Given the description of an element on the screen output the (x, y) to click on. 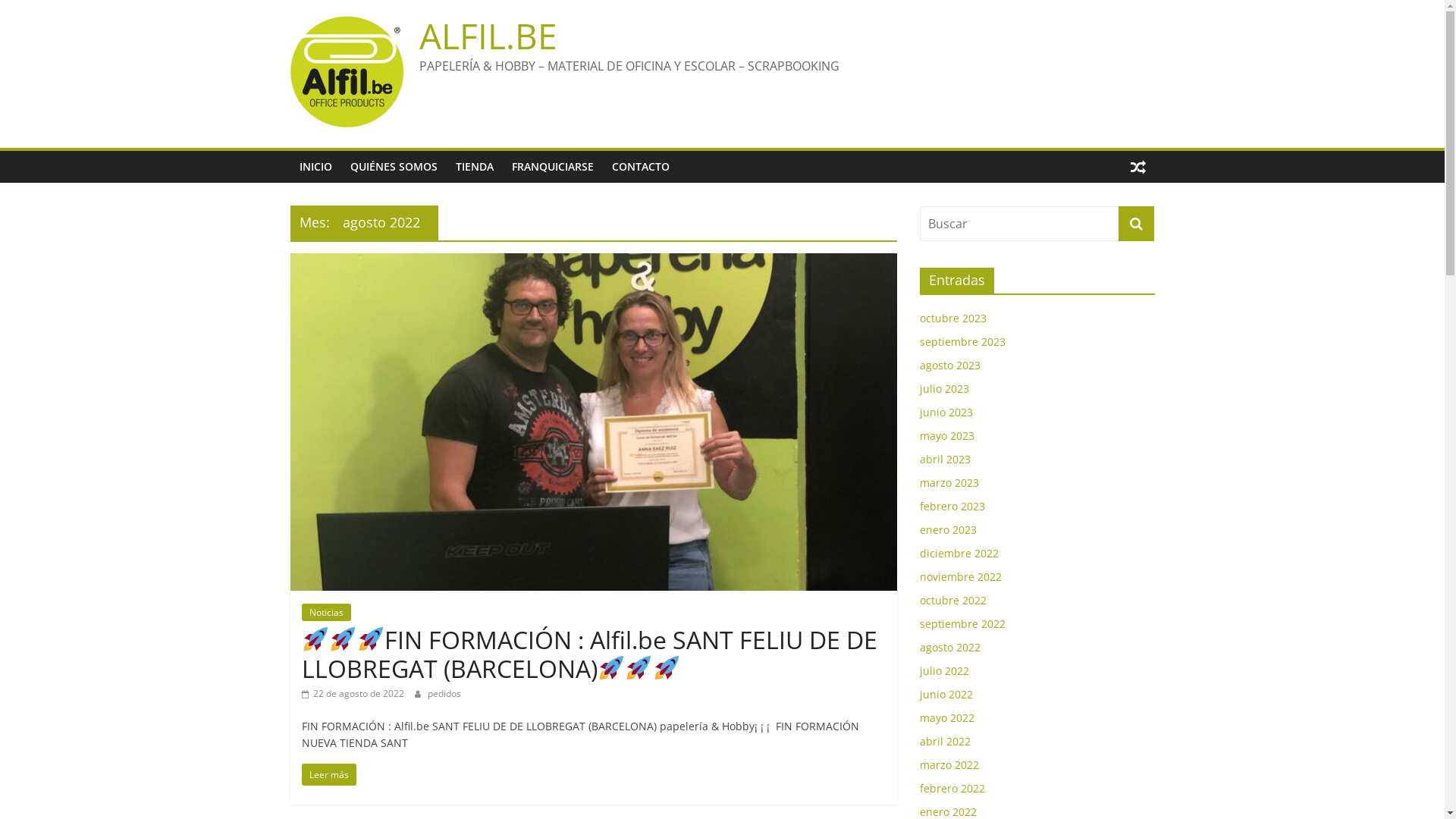
TIENDA Element type: text (473, 166)
marzo 2022 Element type: text (948, 764)
septiembre 2023 Element type: text (961, 341)
julio 2022 Element type: text (943, 670)
marzo 2023 Element type: text (948, 482)
ALFIL.BE Element type: text (487, 35)
noviembre 2022 Element type: text (960, 576)
octubre 2022 Element type: text (952, 600)
octubre 2023 Element type: text (952, 317)
junio 2023 Element type: text (945, 411)
22 de agosto de 2022 Element type: text (352, 693)
CONTACTO Element type: text (639, 166)
enero 2023 Element type: text (947, 529)
agosto 2023 Element type: text (949, 364)
agosto 2022 Element type: text (949, 647)
FRANQUICIARSE Element type: text (552, 166)
febrero 2023 Element type: text (951, 505)
abril 2023 Element type: text (944, 458)
Noticias Element type: text (326, 612)
pedidos Element type: text (444, 693)
abril 2022 Element type: text (944, 741)
INICIO Element type: text (314, 166)
mayo 2022 Element type: text (946, 717)
Ver una entrada aleatoria Element type: hover (1137, 166)
mayo 2023 Element type: text (946, 435)
julio 2023 Element type: text (943, 388)
febrero 2022 Element type: text (951, 788)
septiembre 2022 Element type: text (961, 623)
junio 2022 Element type: text (945, 694)
diciembre 2022 Element type: text (958, 553)
